Given the description of an element on the screen output the (x, y) to click on. 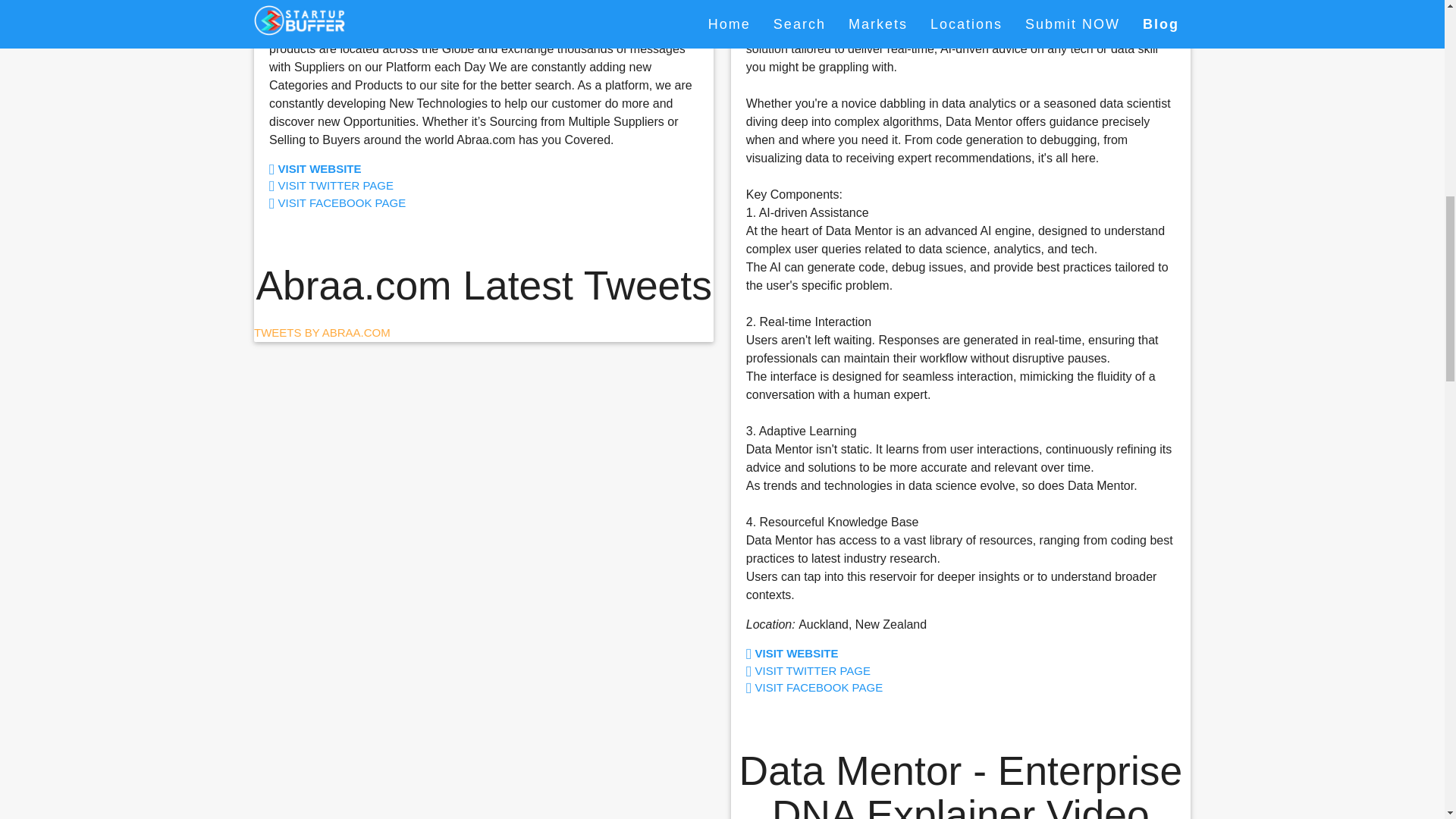
VISIT FACEBOOK PAGE (475, 203)
Data Mentor - Enterprise DNA facebook page (952, 687)
VISIT TWITTER PAGE (475, 185)
TWEETS BY ABRAA.COM (321, 332)
VISIT WEBSITE (475, 169)
Abraa.com web page (475, 169)
Data Mentor - Enterprise DNA web page (952, 653)
Data Mentor - Enterprise DNA twitter page (952, 671)
VISIT FACEBOOK PAGE (952, 687)
Abraa.com facebook page (475, 203)
